Given the description of an element on the screen output the (x, y) to click on. 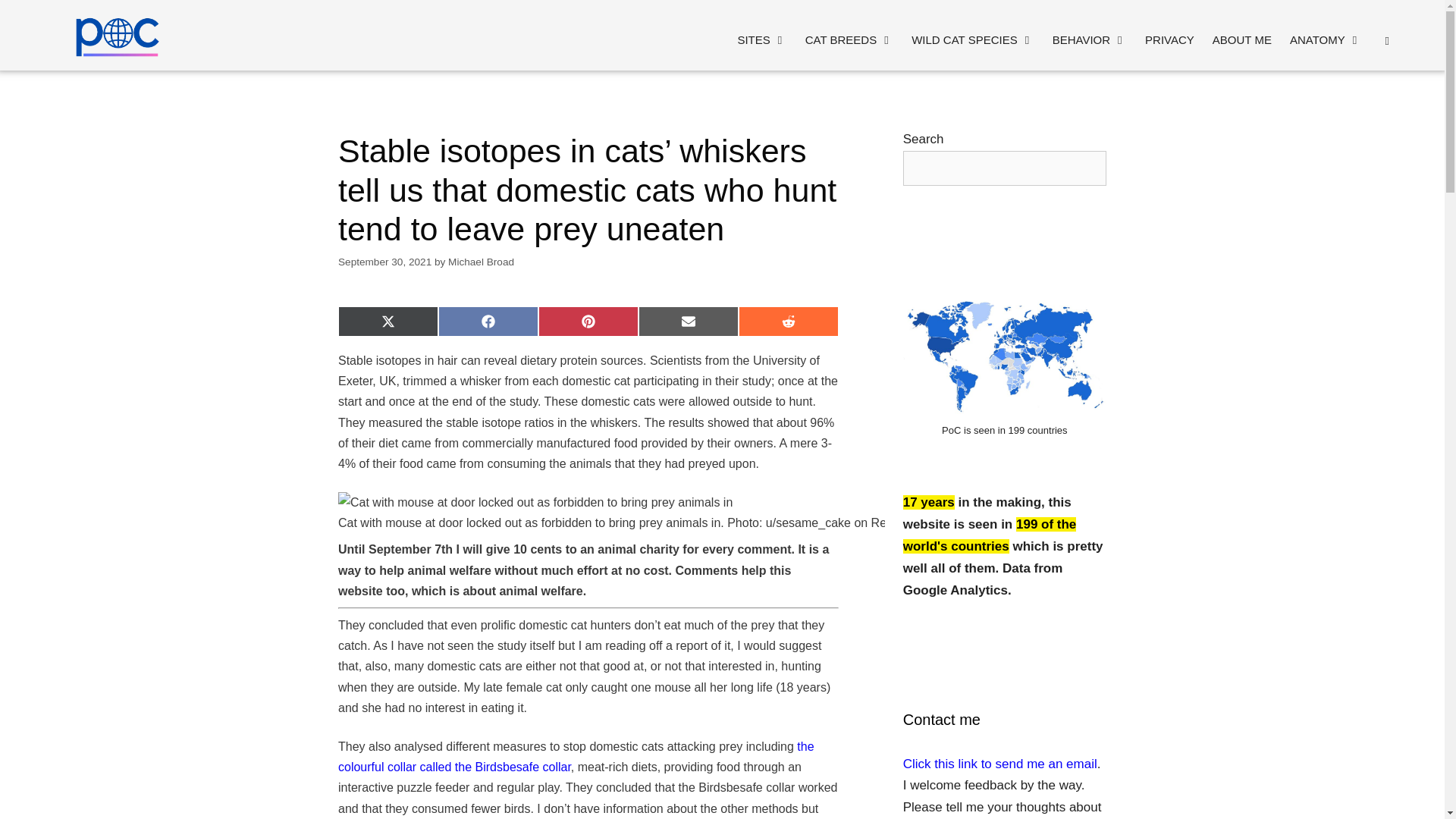
All the cat breeds fully discussed and illustrated (849, 40)
All the wild cat species listed (972, 40)
WILD CAT SPECIES (972, 40)
BEHAVIOR (1089, 40)
SITES (761, 40)
CAT BREEDS (849, 40)
